Given the description of an element on the screen output the (x, y) to click on. 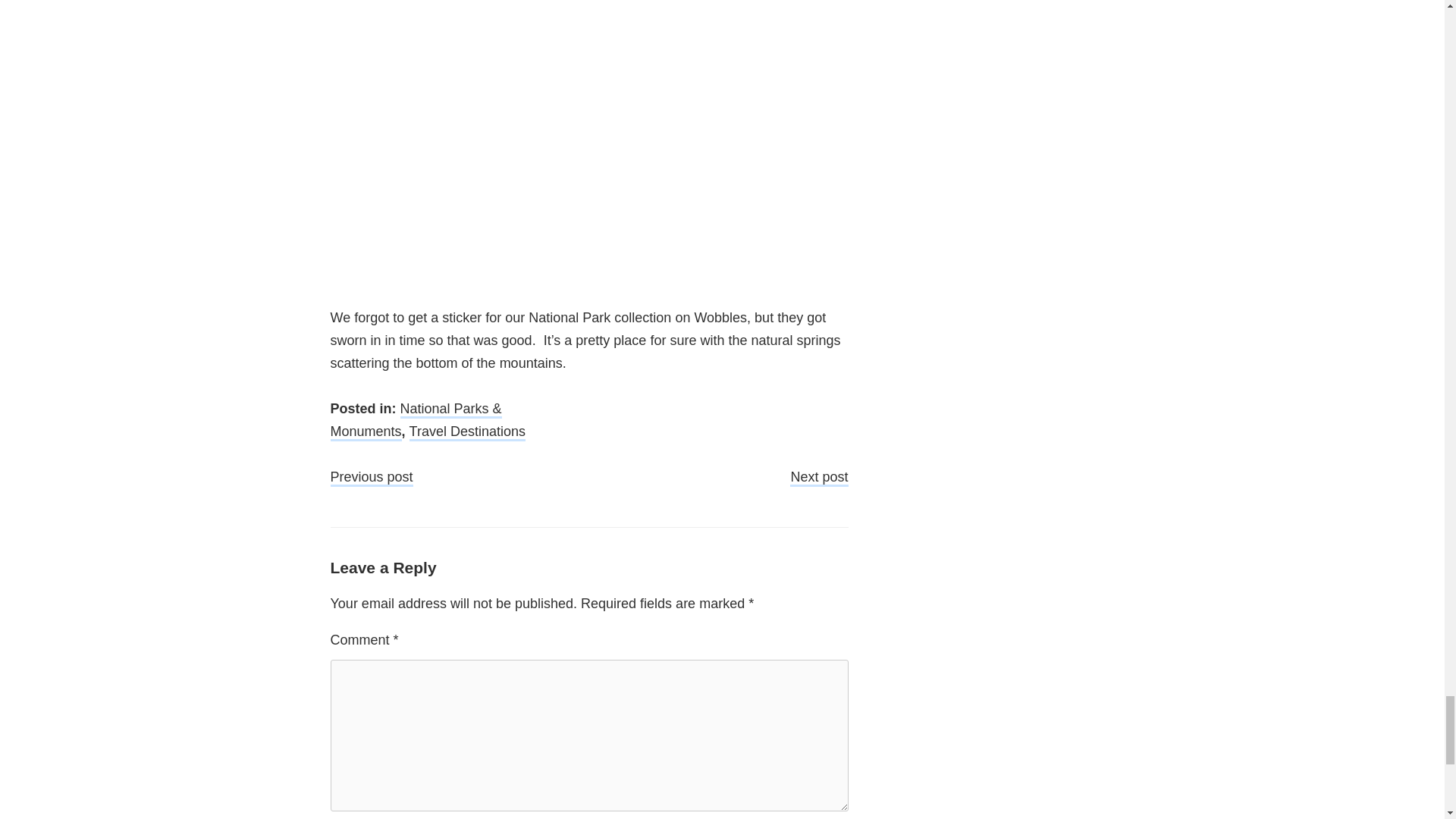
Next post (818, 477)
Previous post (371, 477)
Travel Destinations (467, 432)
